Given the description of an element on the screen output the (x, y) to click on. 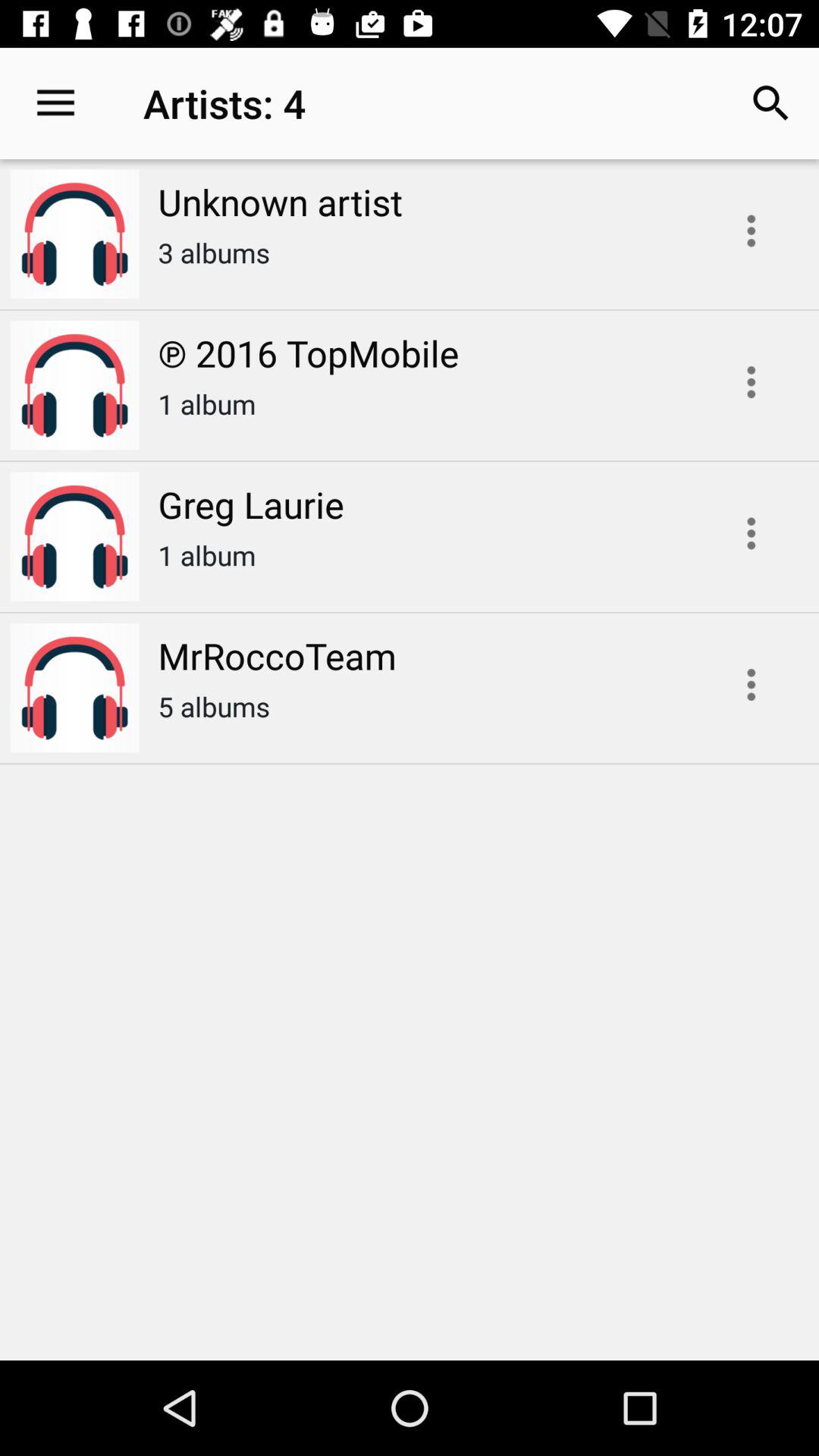
show additional options (750, 684)
